Given the description of an element on the screen output the (x, y) to click on. 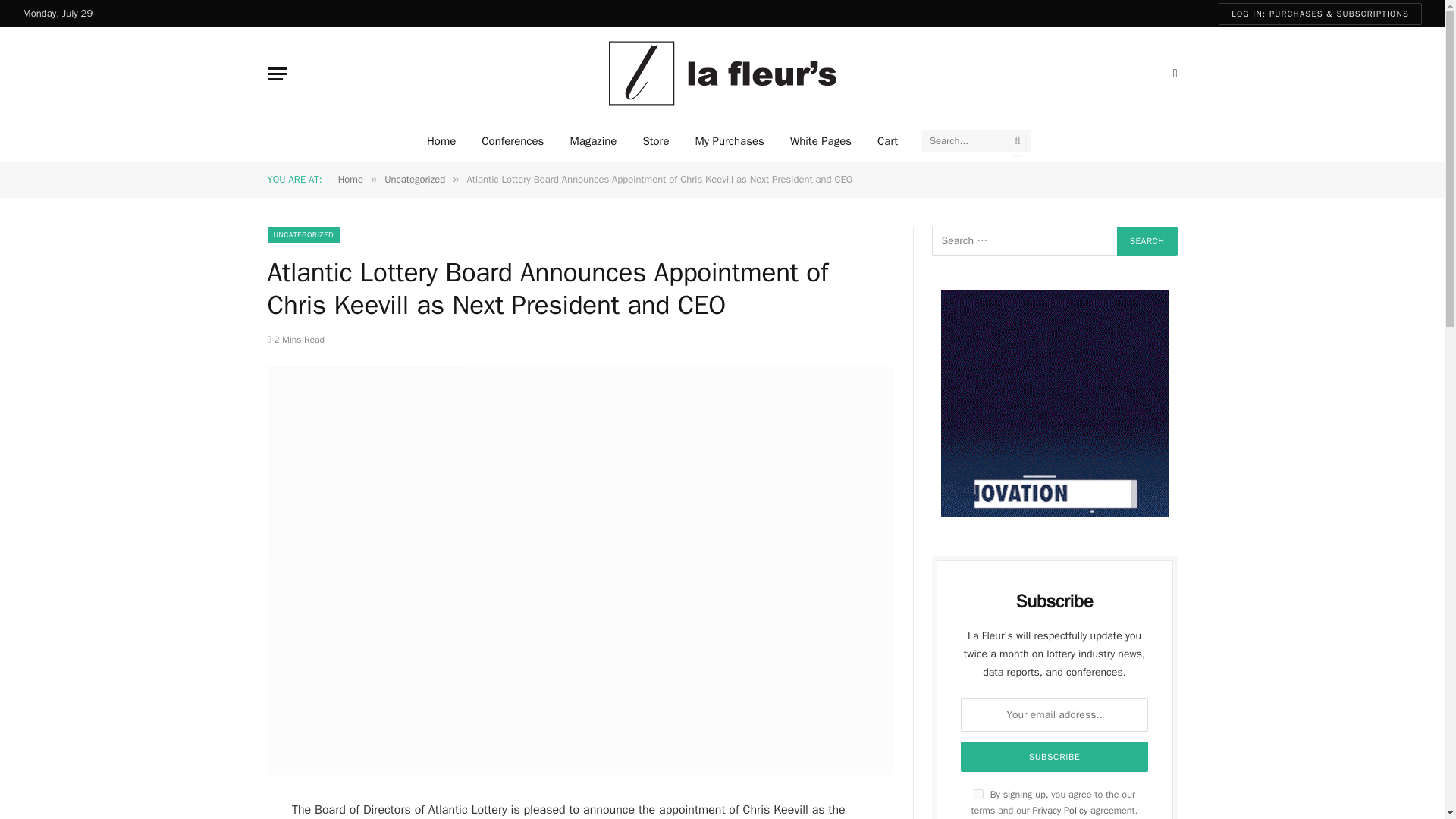
Cart (887, 140)
on (979, 794)
White Pages (820, 140)
Store (654, 140)
Search (1146, 240)
Conferences (512, 140)
La Fleur's Lottery World (721, 73)
UNCATEGORIZED (302, 234)
Subscribe (1053, 757)
Search (1146, 240)
Magazine (592, 140)
Subscribe (1053, 757)
Home (349, 178)
Home (440, 140)
